Given the description of an element on the screen output the (x, y) to click on. 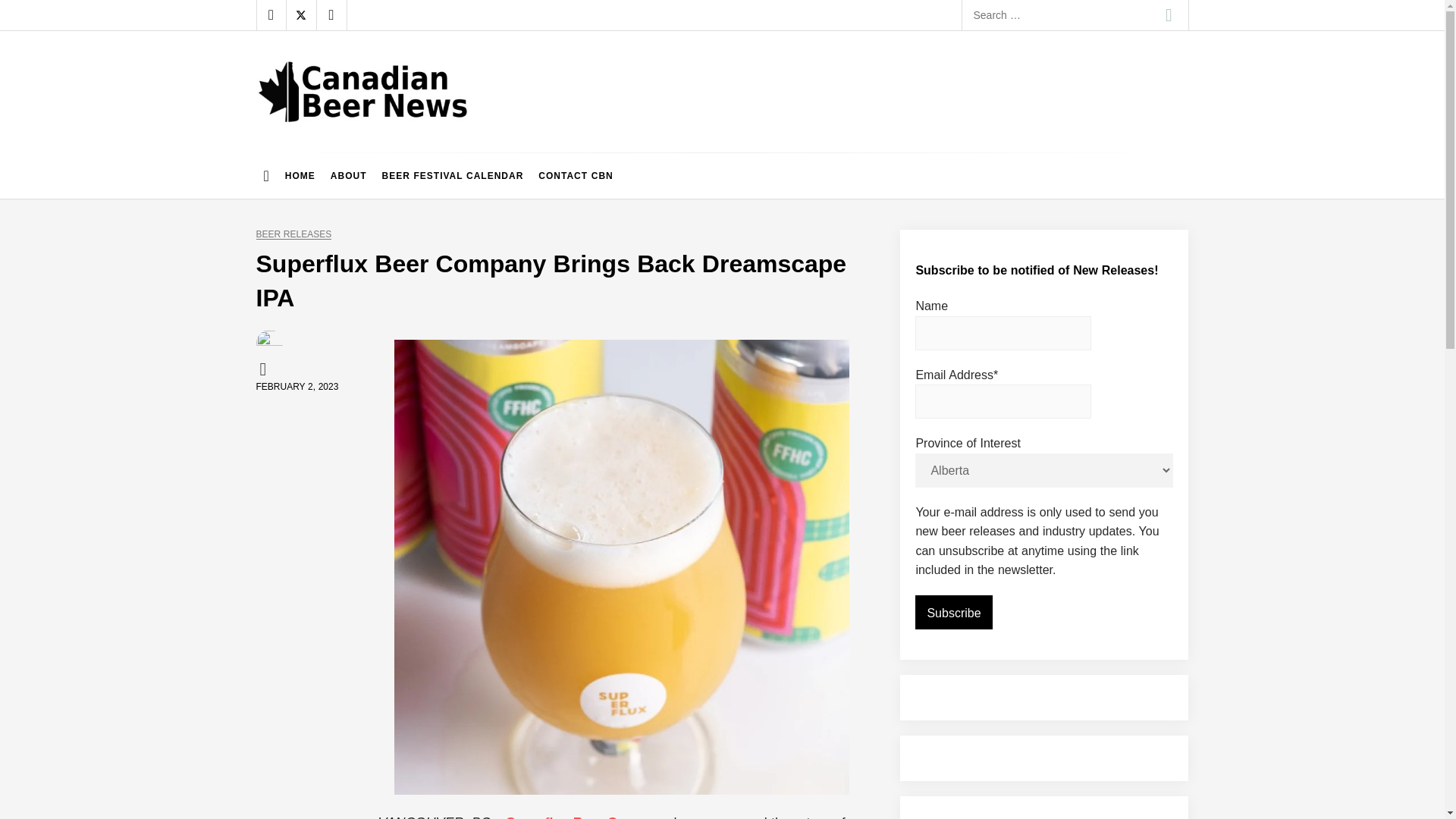
ABOUT (348, 176)
FEBRUARY 2, 2023 (297, 386)
Search (1169, 15)
Subscribe (953, 612)
Canadian Beer News (384, 136)
Superflux Beer Company (587, 816)
Search (1169, 15)
BEER RELEASES (293, 234)
HOME (300, 176)
CBN (265, 368)
